Given the description of an element on the screen output the (x, y) to click on. 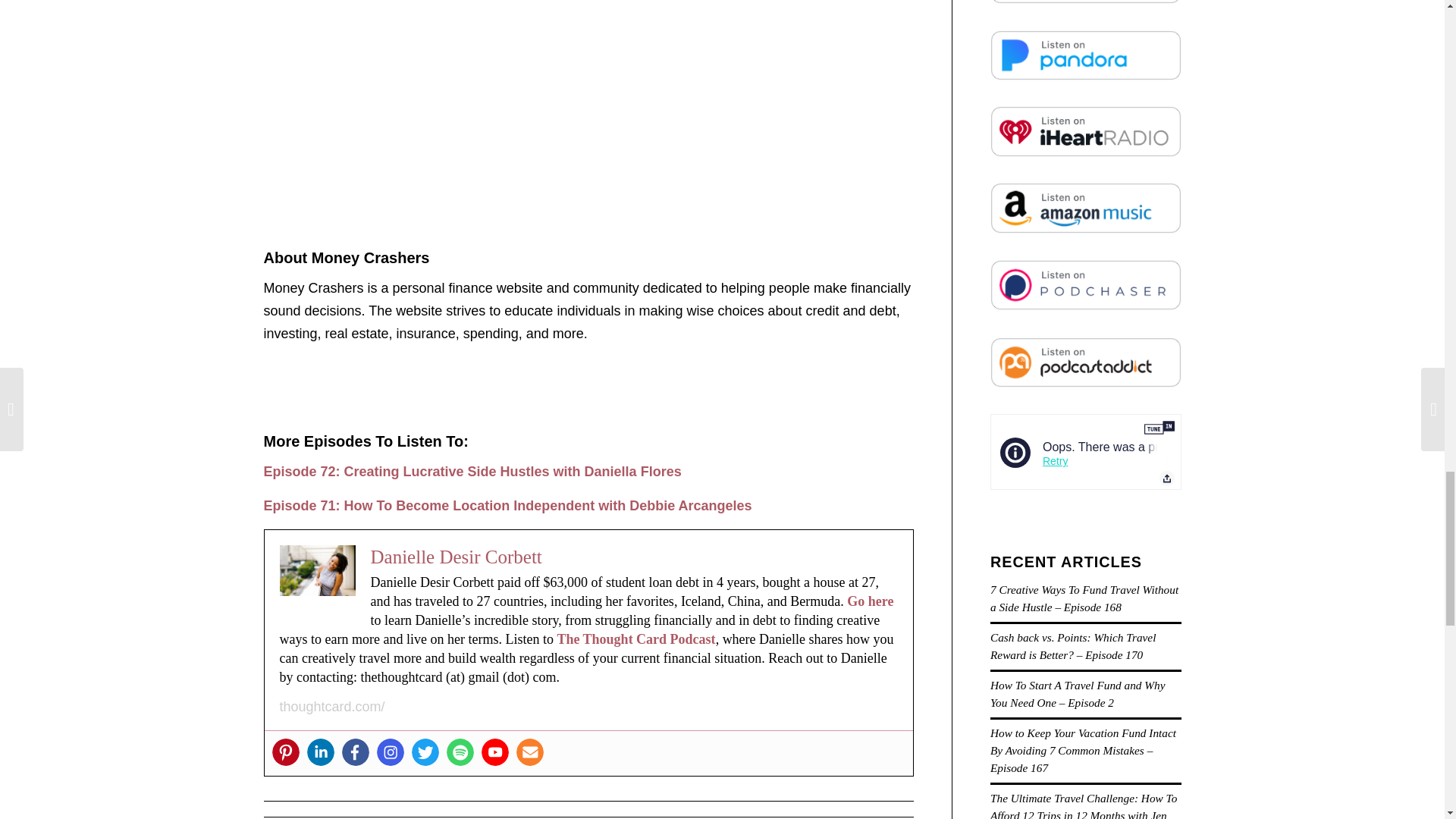
Twitter (424, 751)
Youtube (494, 751)
Facebook (354, 751)
Pinterest (284, 751)
Linkedin (319, 751)
Instagram (389, 751)
Spotify (459, 751)
User email (529, 751)
